Given the description of an element on the screen output the (x, y) to click on. 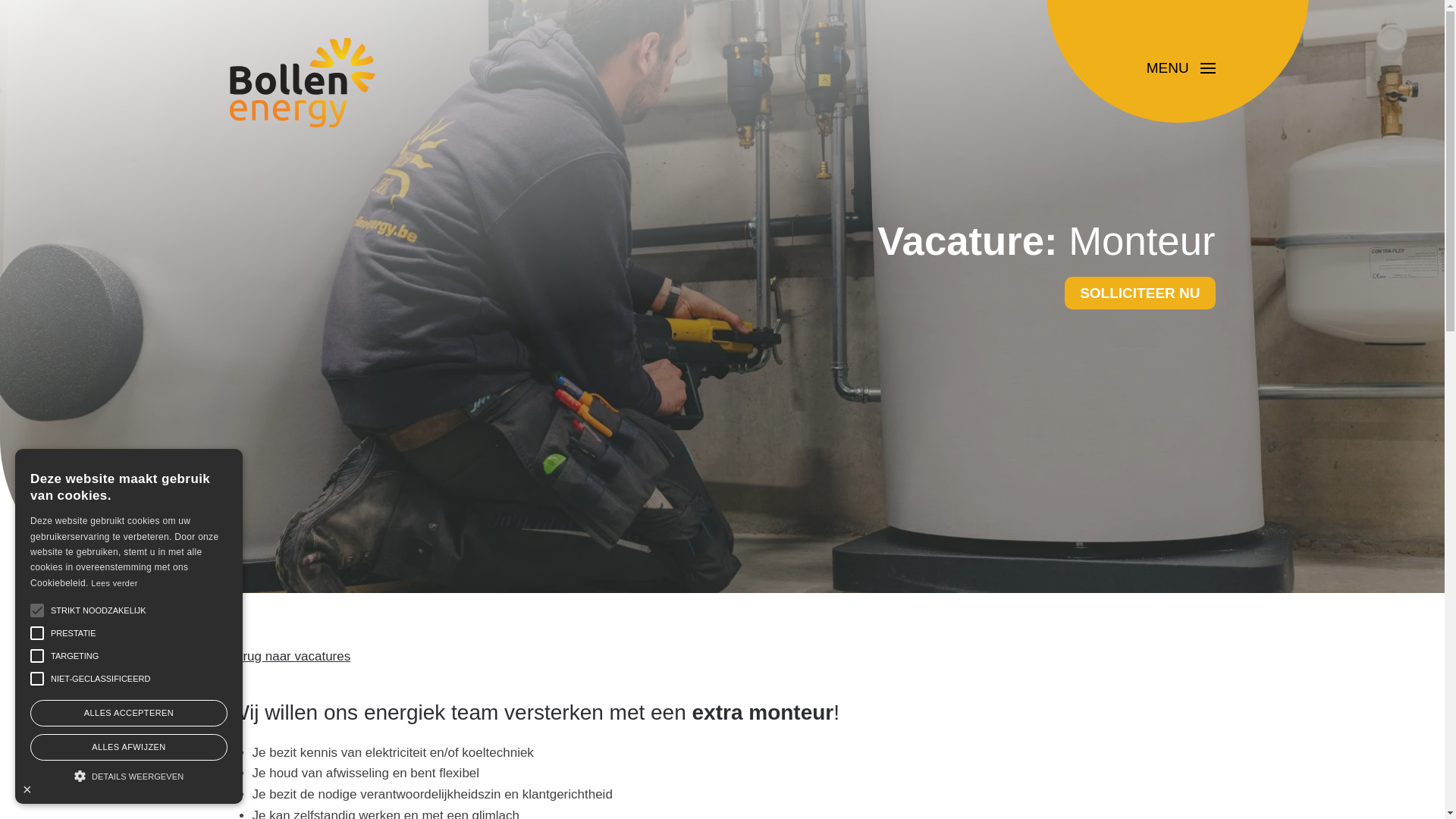
Terug naar vacatures Element type: text (289, 656)
Lees verder Element type: text (114, 582)
SOLLICITEER NU Element type: text (1139, 292)
